Given the description of an element on the screen output the (x, y) to click on. 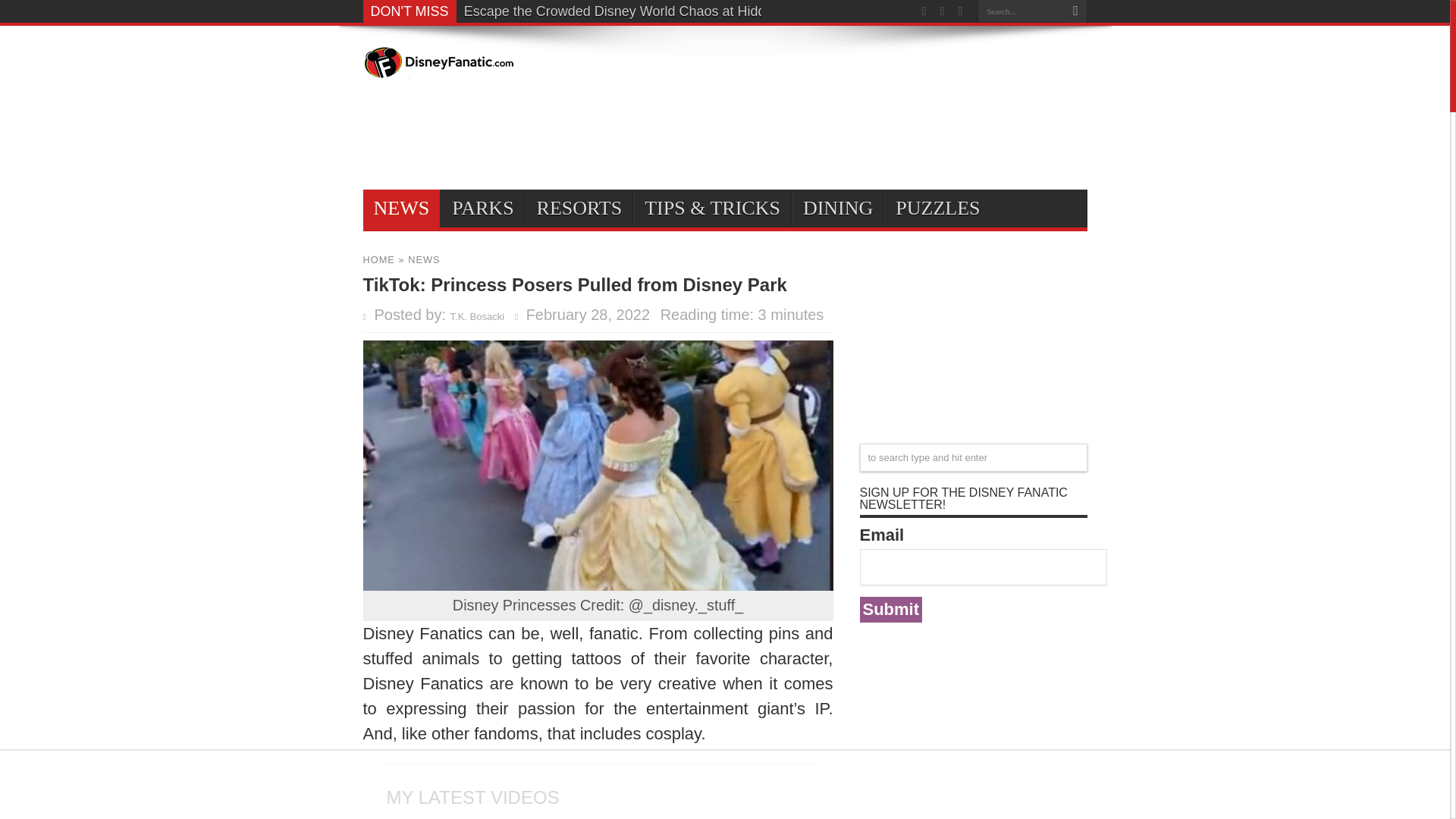
PUZZLES (936, 208)
DisneyFanatic.com (437, 67)
to search type and hit enter (973, 457)
DINING (837, 208)
NEWS (423, 259)
NEWS (400, 208)
Search... (1020, 11)
RESORTS (579, 208)
Search (1075, 11)
PARKS (482, 208)
T.K. Bosacki (477, 316)
HOME (378, 259)
